Given the description of an element on the screen output the (x, y) to click on. 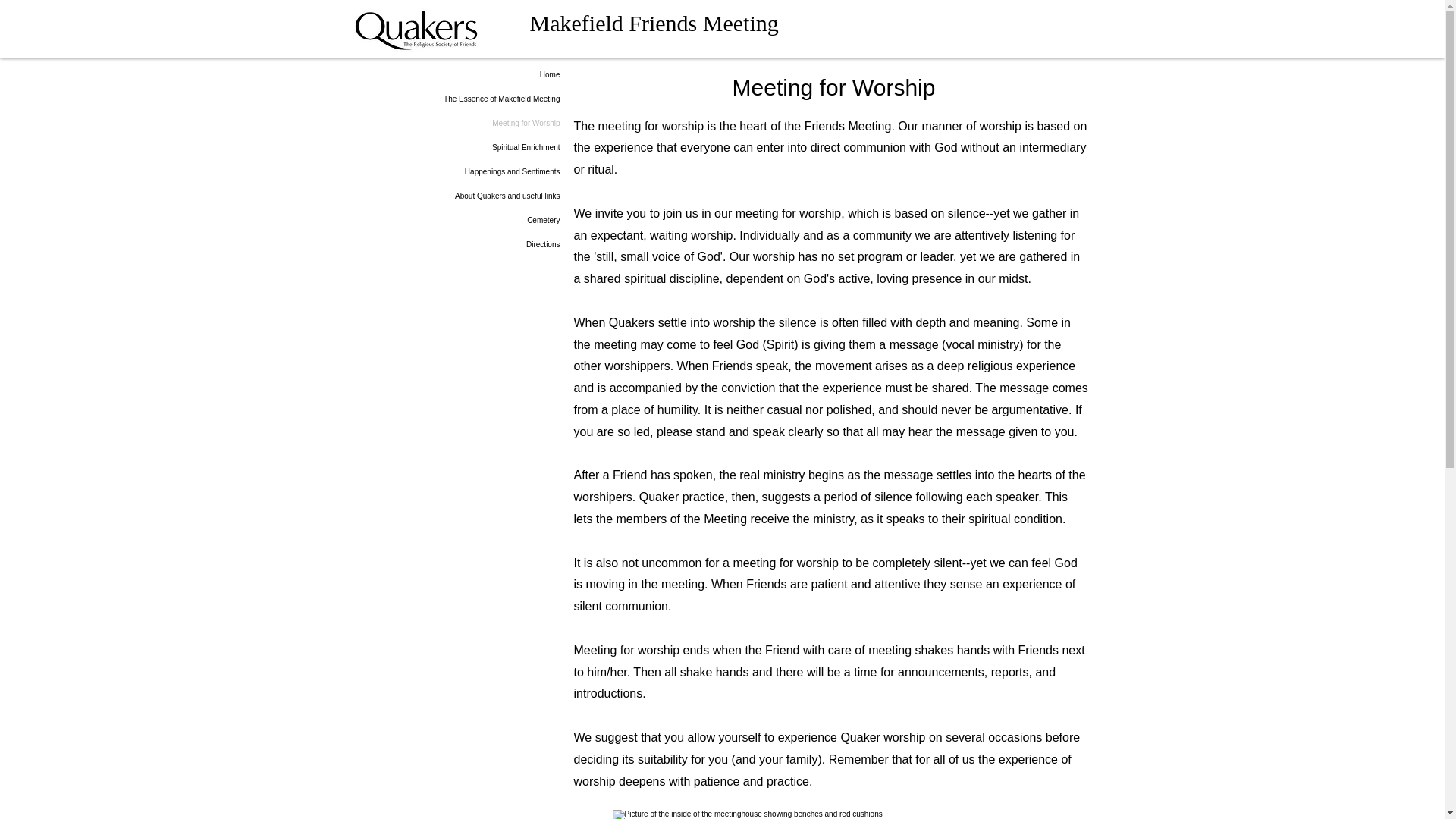
Makefield Friends Meeting (653, 23)
The Essence of Makefield Meeting (523, 98)
Directions (523, 244)
QuakersRSF.jpg (416, 27)
Cemetery (523, 220)
About Quakers and useful links (523, 196)
Meeting for Worship (523, 123)
Home (523, 74)
Spiritual Enrichment (523, 147)
Happenings and Sentiments (523, 171)
